Given the description of an element on the screen output the (x, y) to click on. 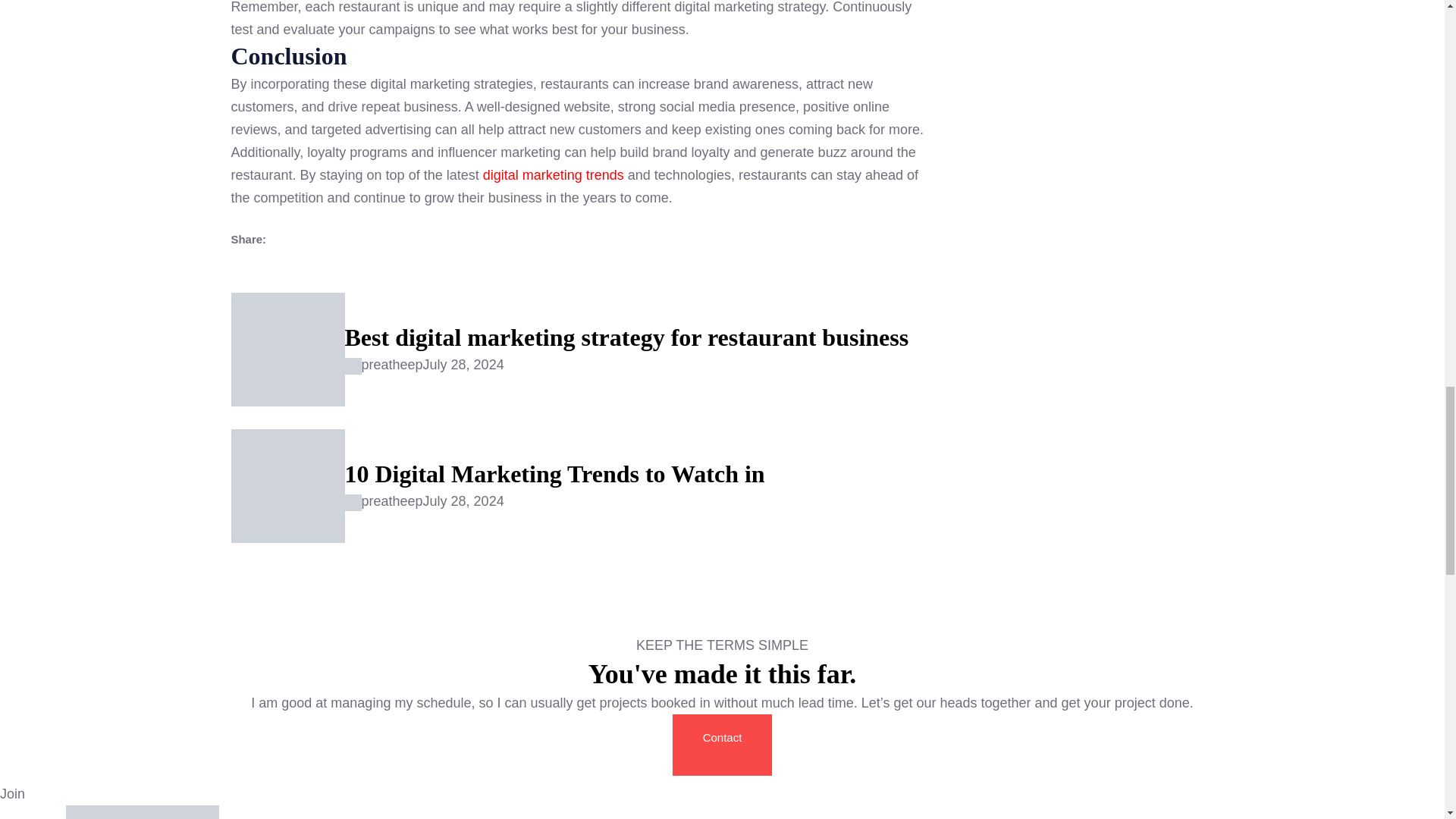
digital marketing trends (553, 174)
Best digital marketing strategy for restaurant business (625, 337)
10 Digital Marketing Trends to Watch in (553, 473)
